Given the description of an element on the screen output the (x, y) to click on. 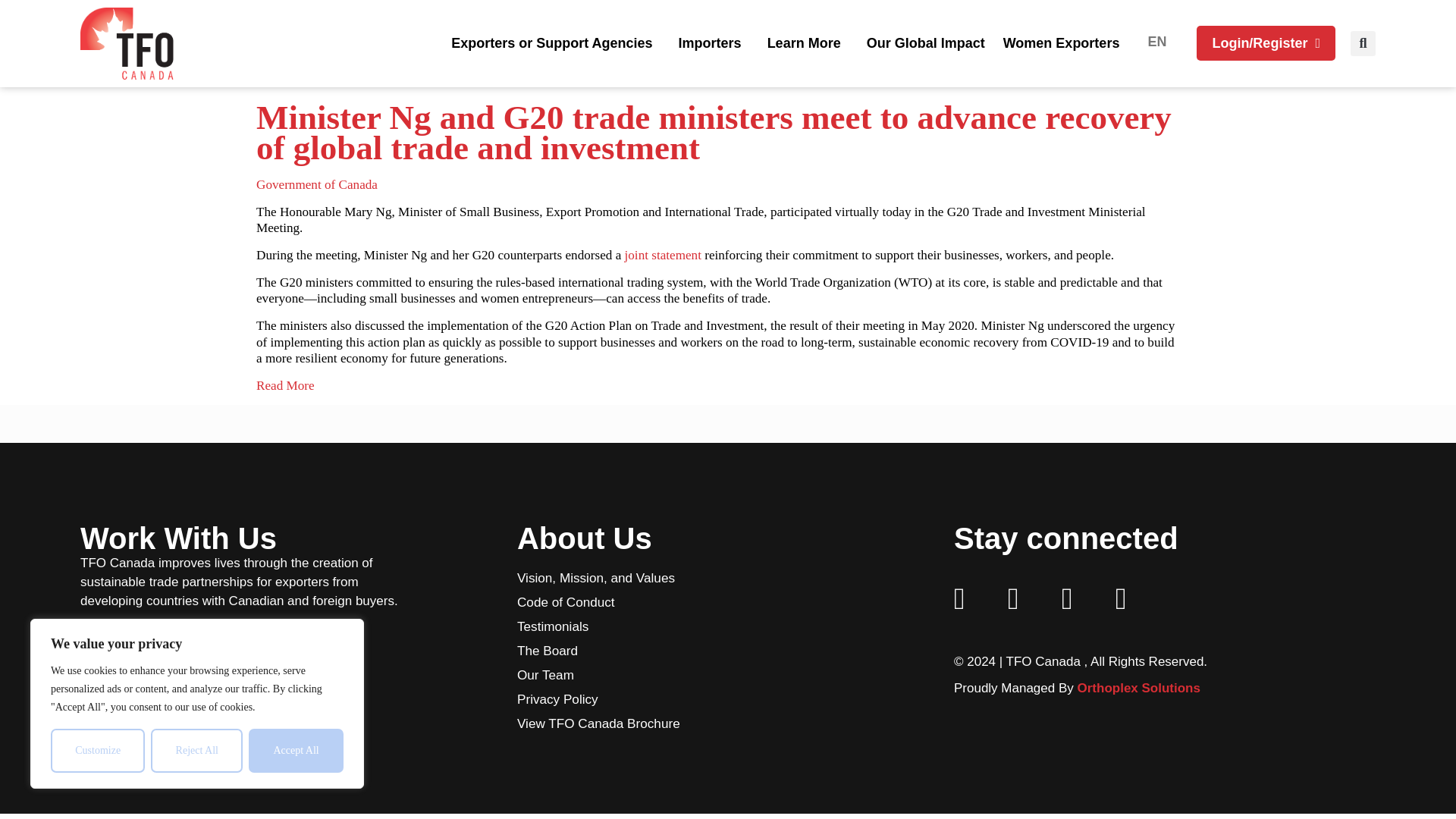
Our Global Impact (925, 42)
Women Exporters (1061, 42)
Importers (713, 42)
Reject All (197, 750)
Learn More (807, 42)
Customize (97, 750)
Exporters or Support Agencies (555, 42)
Accept All (295, 750)
